Given the description of an element on the screen output the (x, y) to click on. 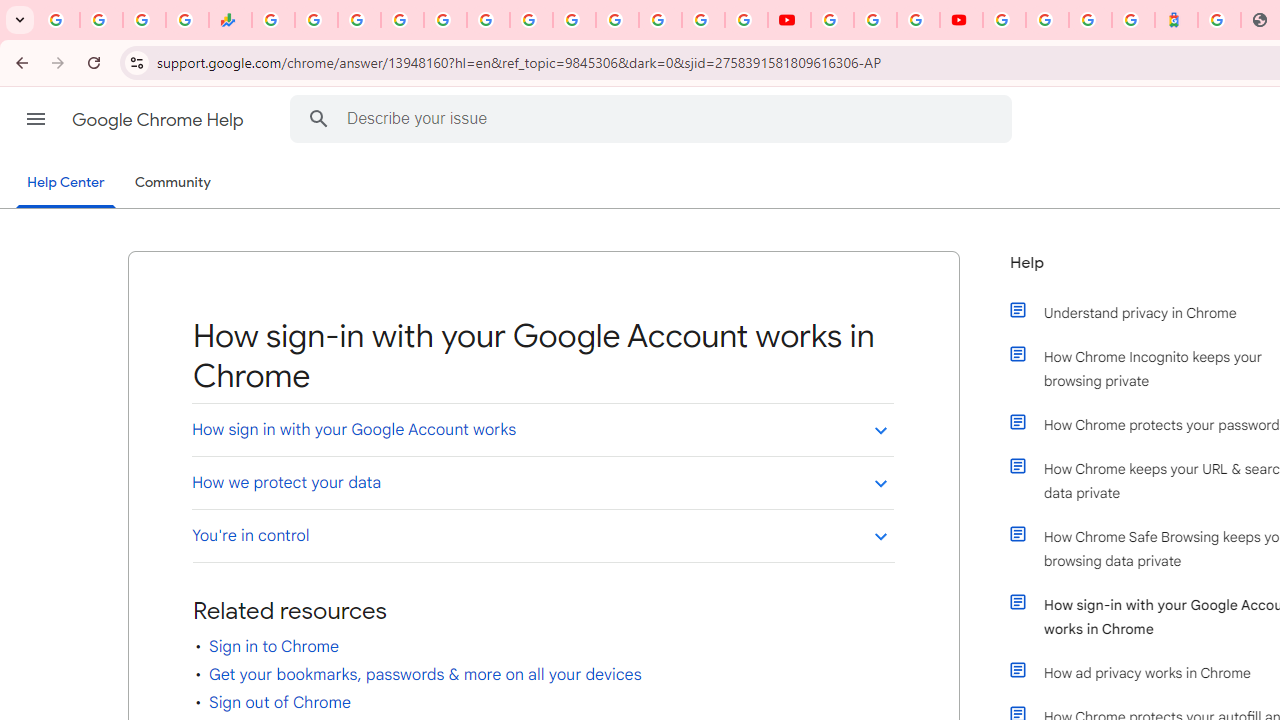
Sign in - Google Accounts (1047, 20)
YouTube (789, 20)
